Given the description of an element on the screen output the (x, y) to click on. 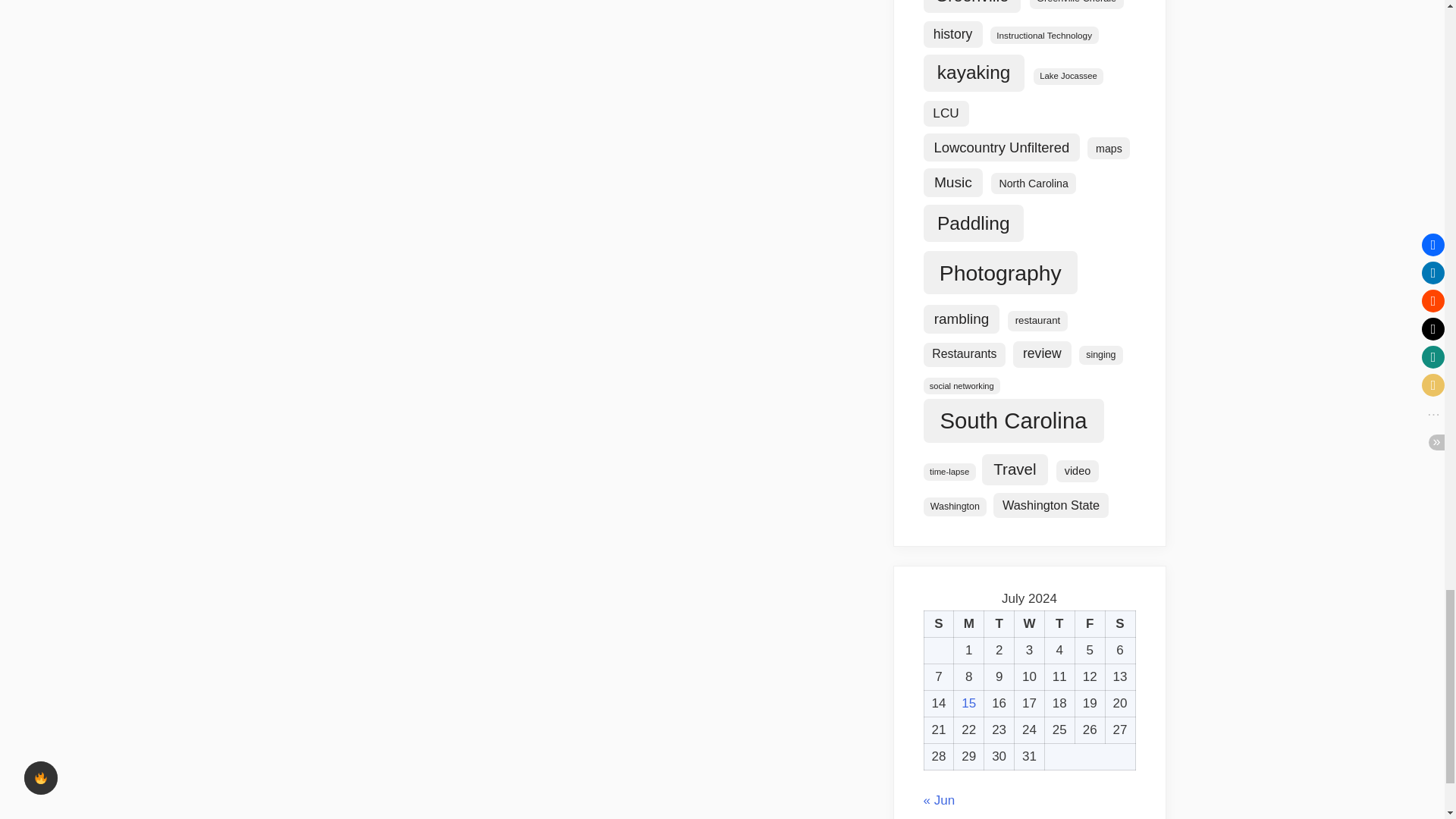
Sunday (938, 624)
Monday (968, 624)
Friday (1089, 624)
Tuesday (999, 624)
Saturday (1120, 624)
Thursday (1058, 624)
Wednesday (1029, 624)
